Given the description of an element on the screen output the (x, y) to click on. 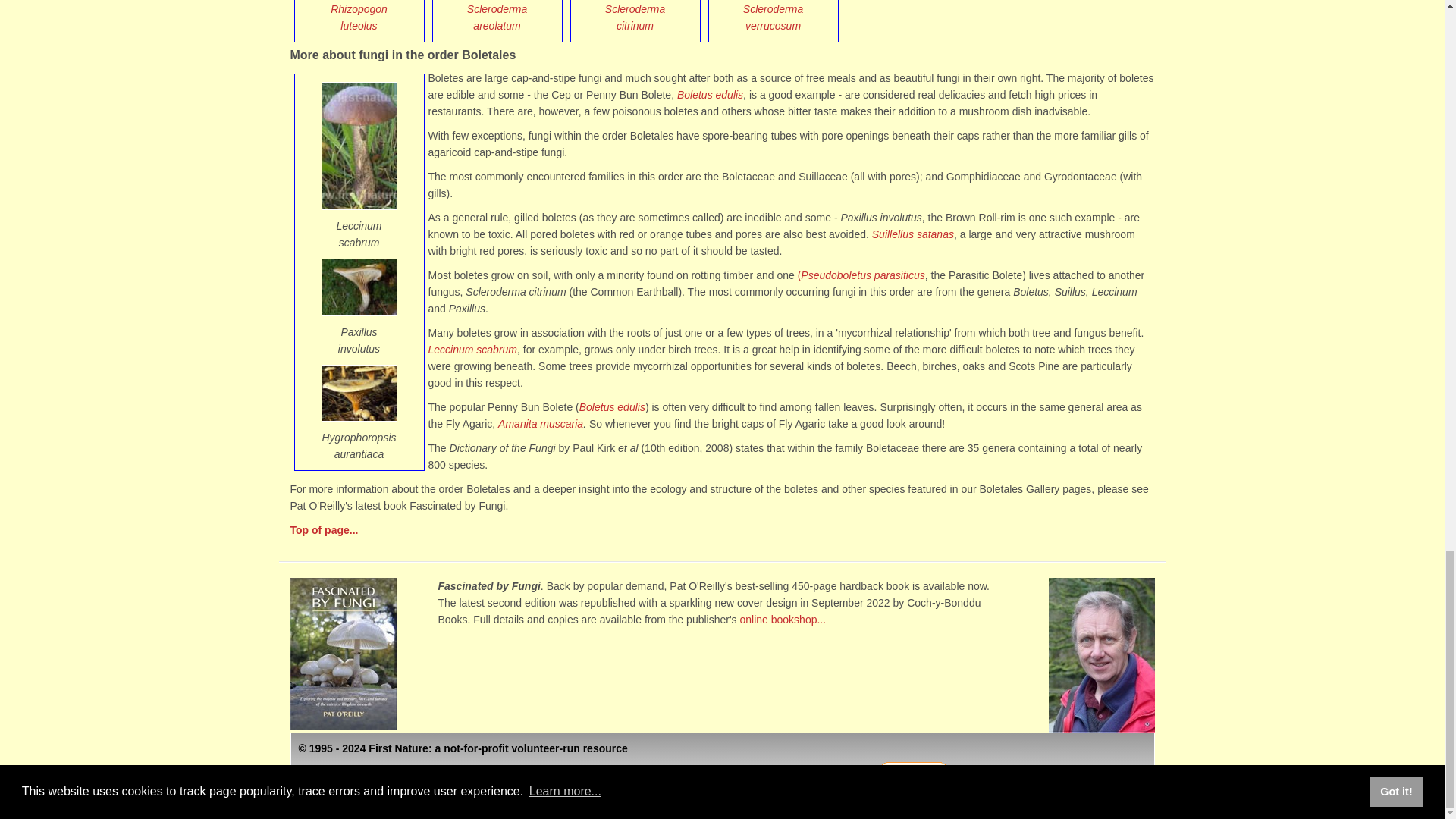
PayPal - The safer, easier way to pay online! (914, 772)
